Given the description of an element on the screen output the (x, y) to click on. 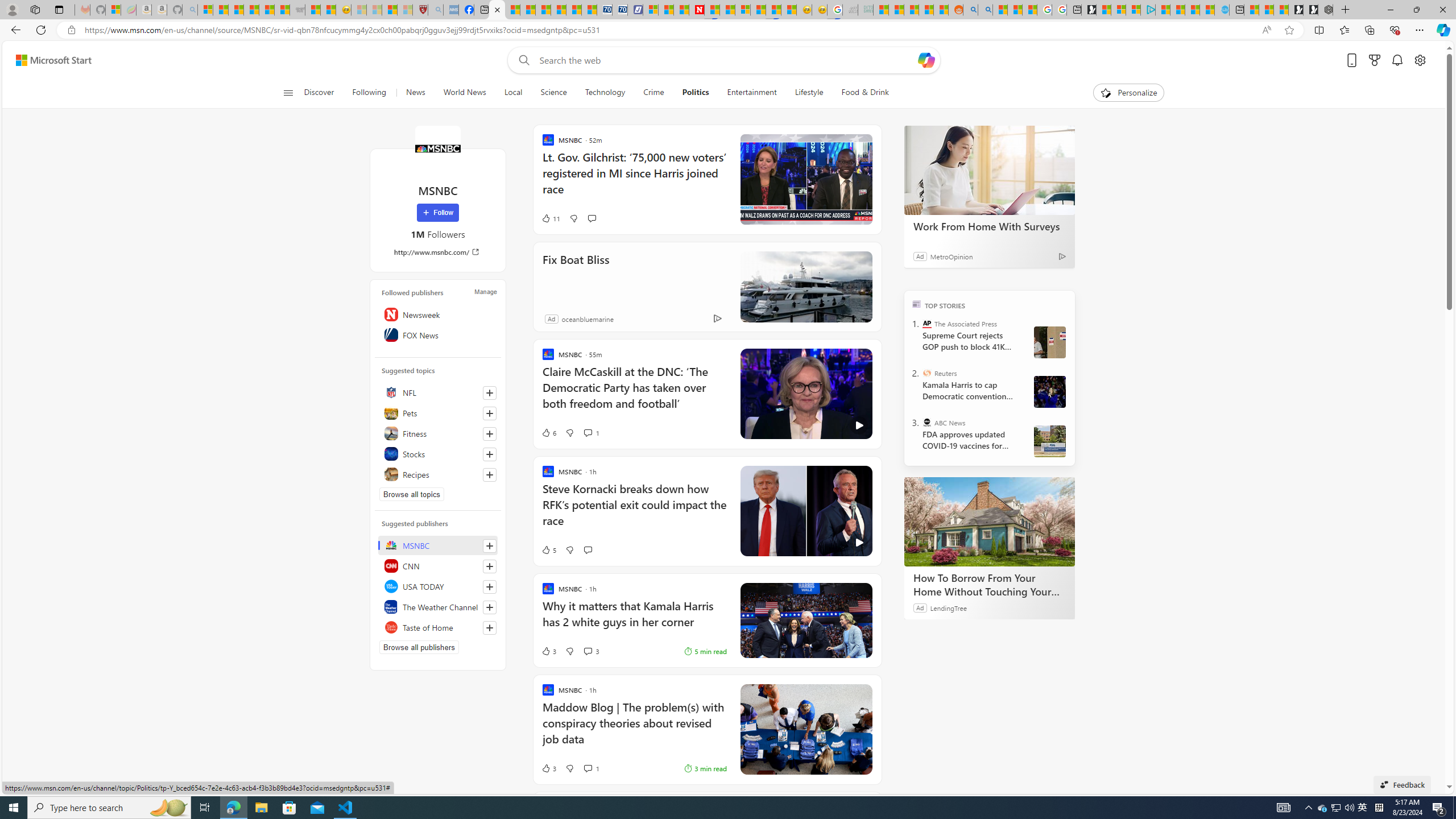
Food & Drink (860, 92)
12 Popular Science Lies that Must be Corrected - Sleeping (405, 9)
Personalize (1128, 92)
Science (553, 92)
Follow (437, 212)
6 Like (547, 432)
Enter your search term (726, 59)
News (414, 92)
